Given the description of an element on the screen output the (x, y) to click on. 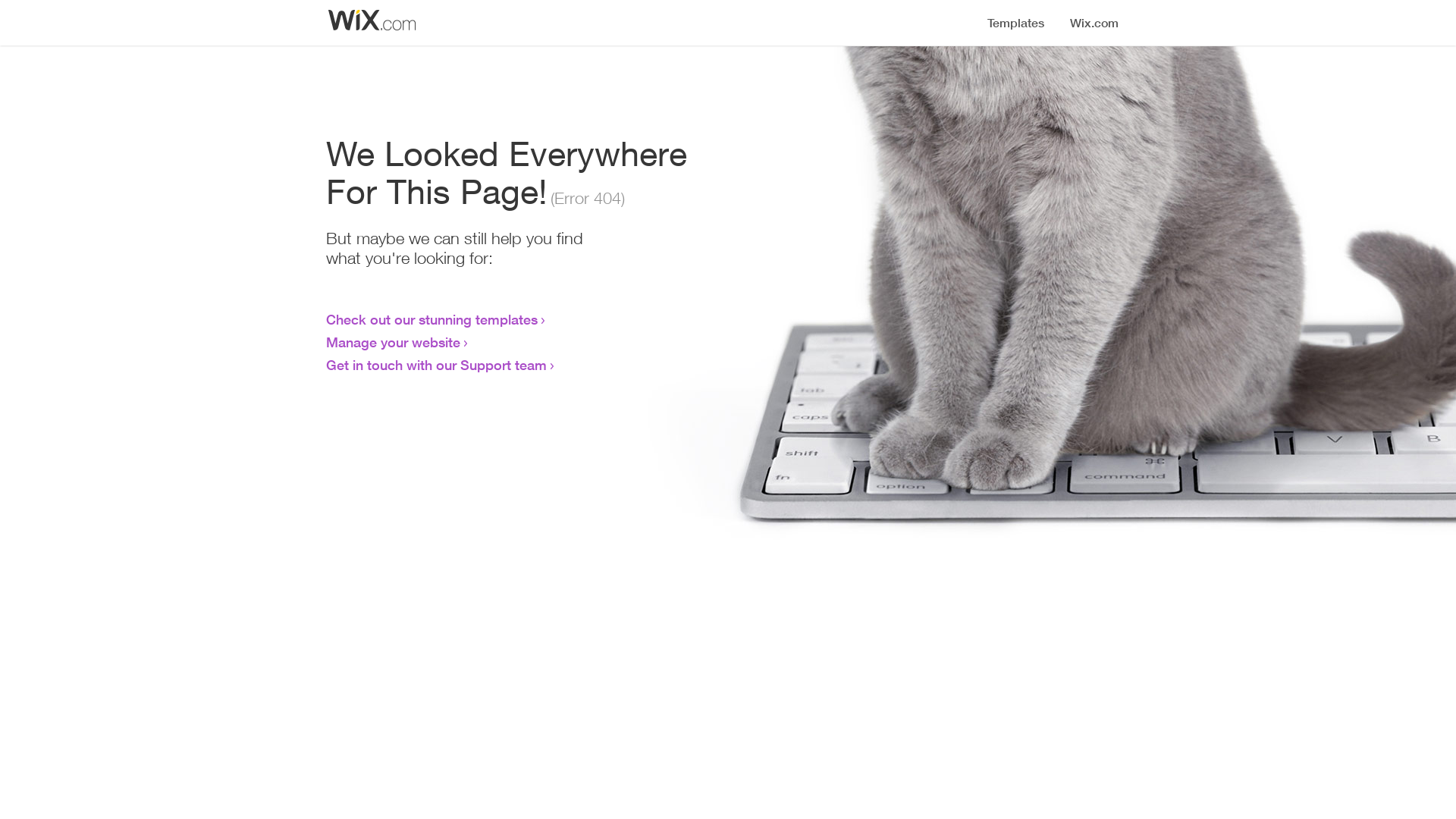
Check out our stunning templates Element type: text (431, 318)
Manage your website Element type: text (393, 341)
Get in touch with our Support team Element type: text (436, 364)
